Given the description of an element on the screen output the (x, y) to click on. 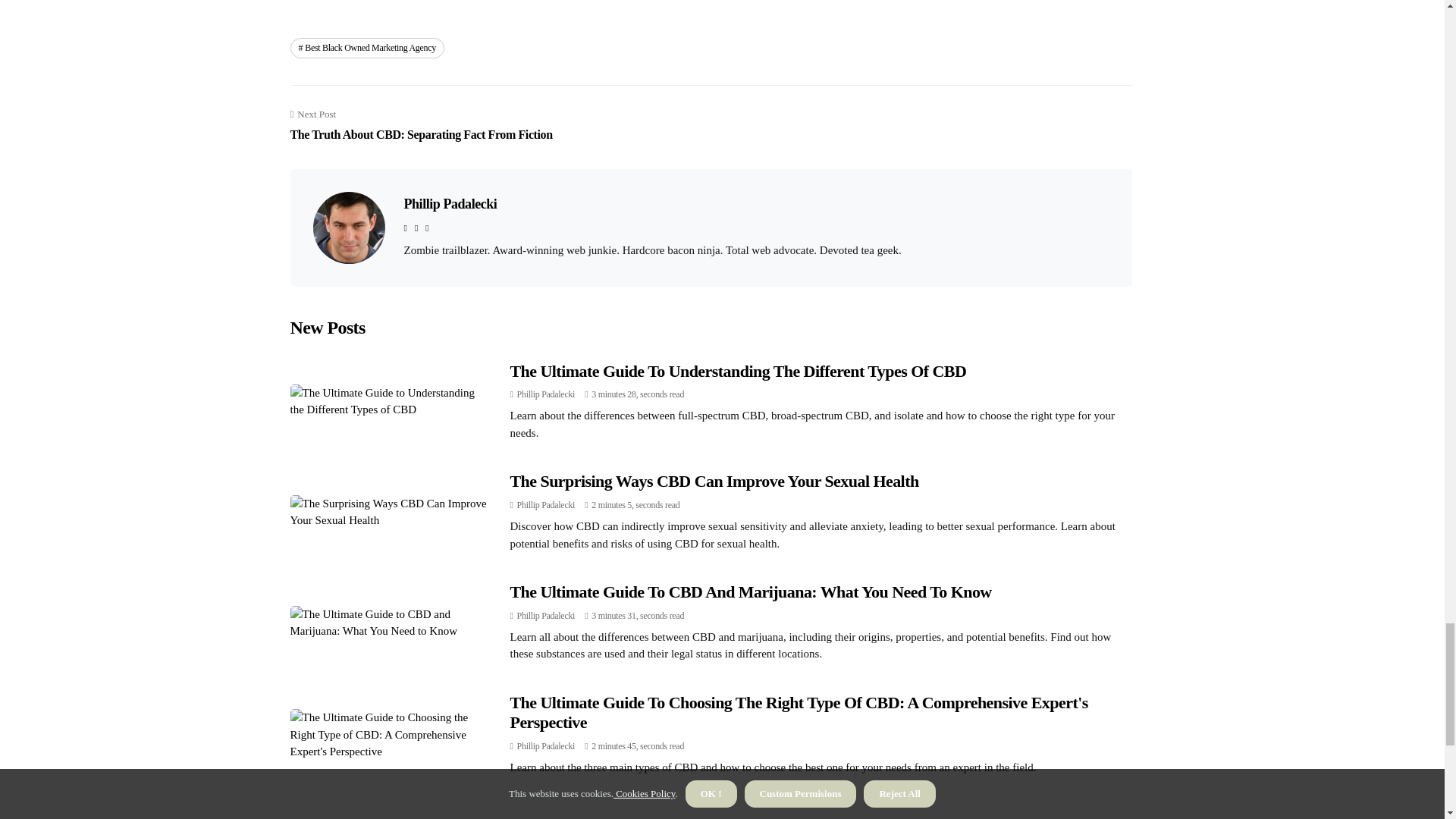
Phillip Padalecki (545, 615)
Phillip Padalecki (449, 203)
Phillip Padalecki (545, 746)
The Surprising Ways CBD Can Improve Your Sexual Health (713, 480)
Posts by Phillip Padalecki (545, 615)
Phillip Padalecki (545, 394)
Posts by Phillip Padalecki (545, 504)
Posts by Phillip Padalecki (545, 746)
